Given the description of an element on the screen output the (x, y) to click on. 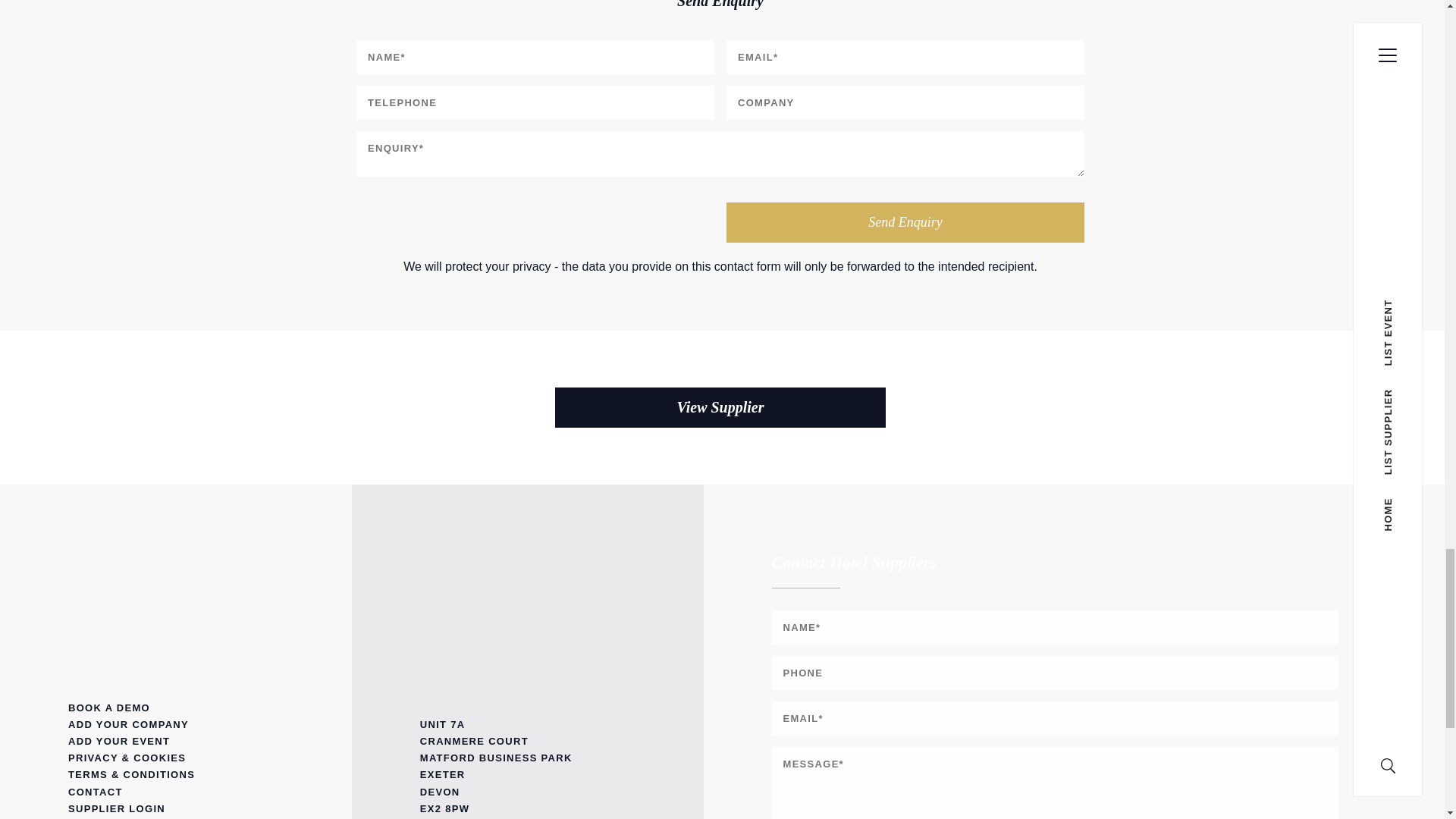
ADD YOUR COMPANY (175, 724)
View Supplier (719, 407)
BOOK A DEMO (175, 708)
Send Enquiry (905, 222)
